Given the description of an element on the screen output the (x, y) to click on. 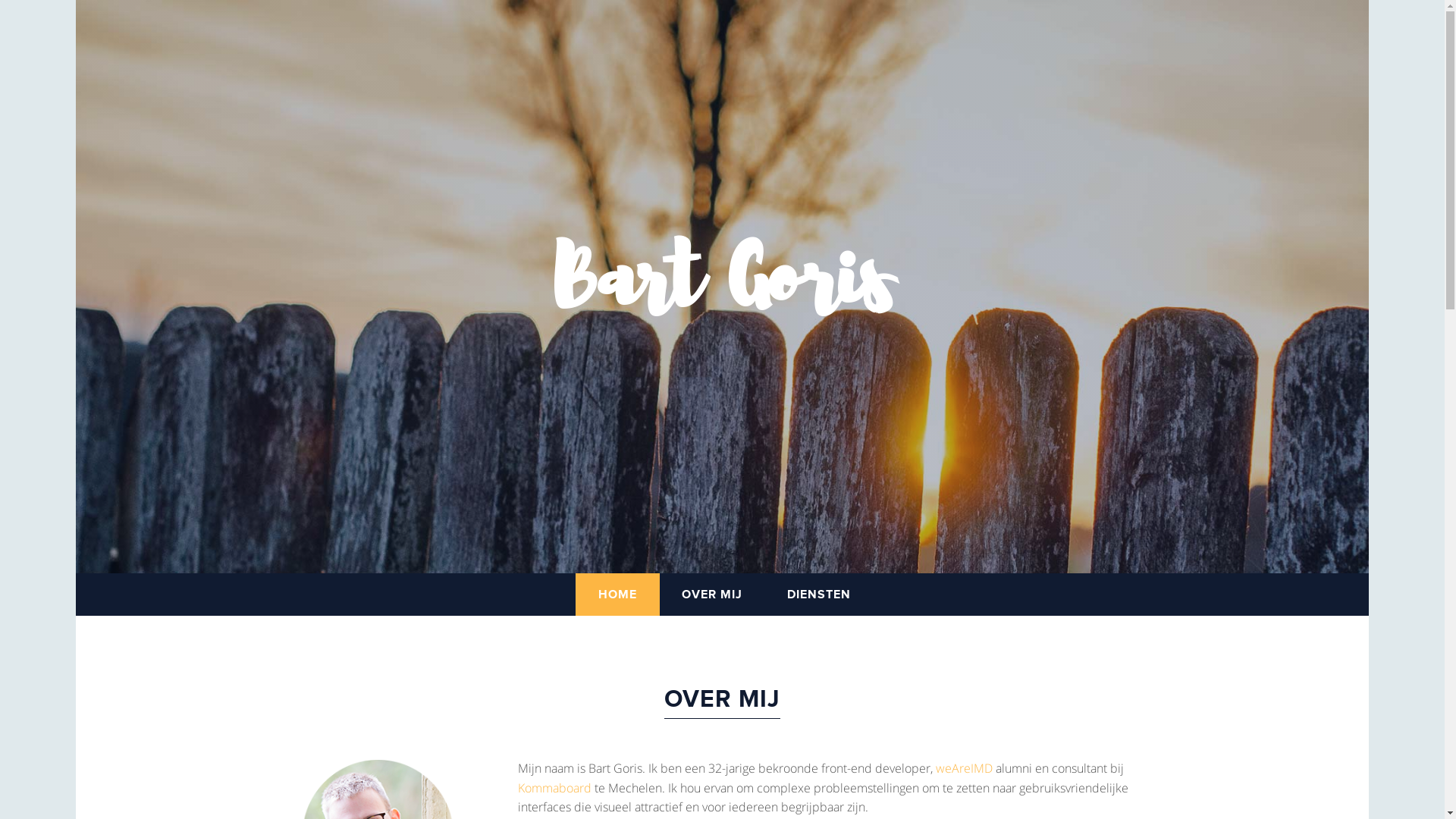
Kommaboard Element type: text (553, 787)
OVER MIJ Element type: text (711, 594)
weAreIMD Element type: text (963, 767)
HOME Element type: text (616, 594)
DIENSTEN Element type: text (818, 594)
Bart Goris Element type: text (722, 286)
